Given the description of an element on the screen output the (x, y) to click on. 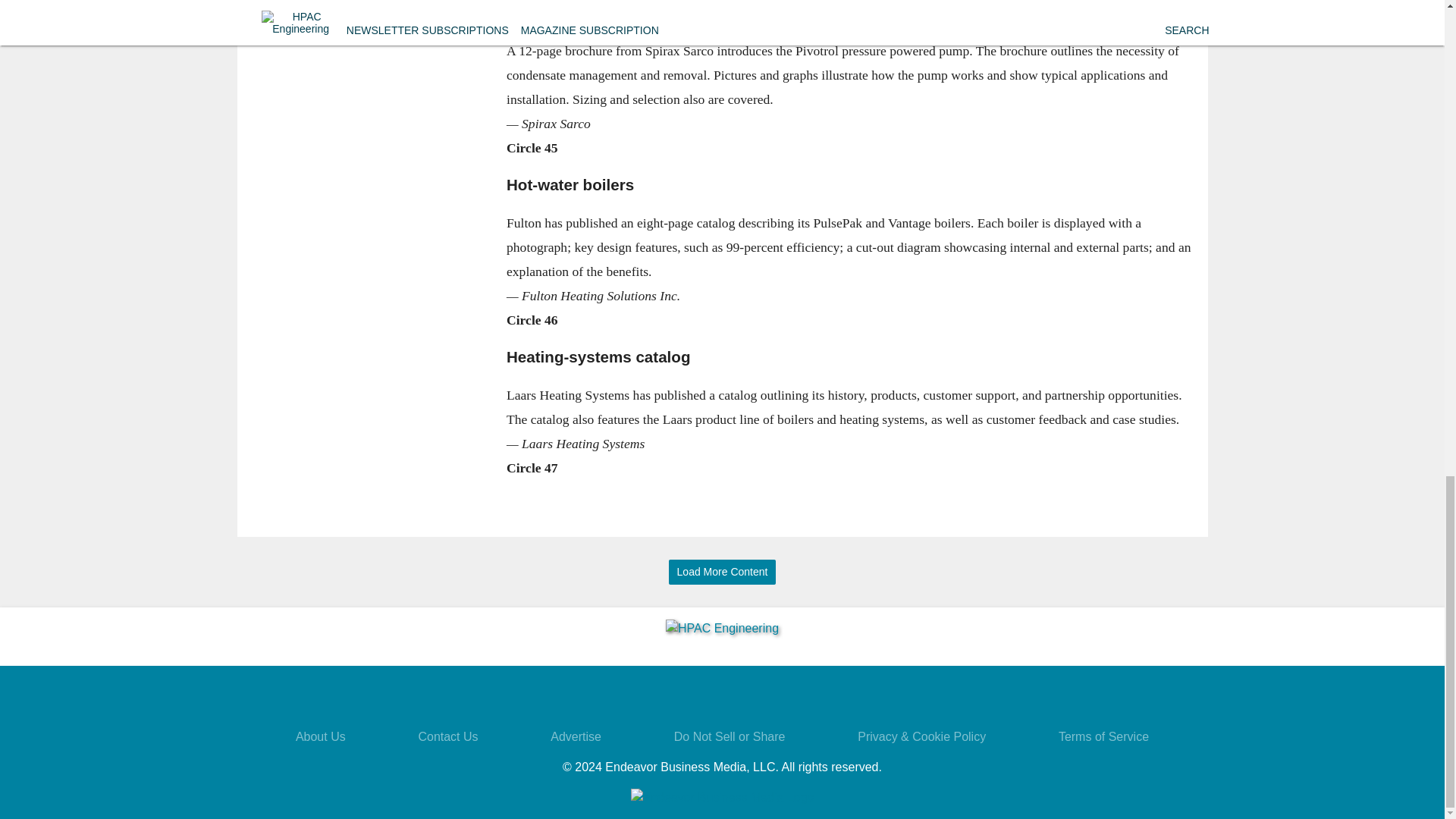
About Us (320, 736)
Advertise (575, 736)
Load More Content (722, 571)
Terms of Service (1103, 736)
Contact Us (447, 736)
Do Not Sell or Share (730, 736)
